Given the description of an element on the screen output the (x, y) to click on. 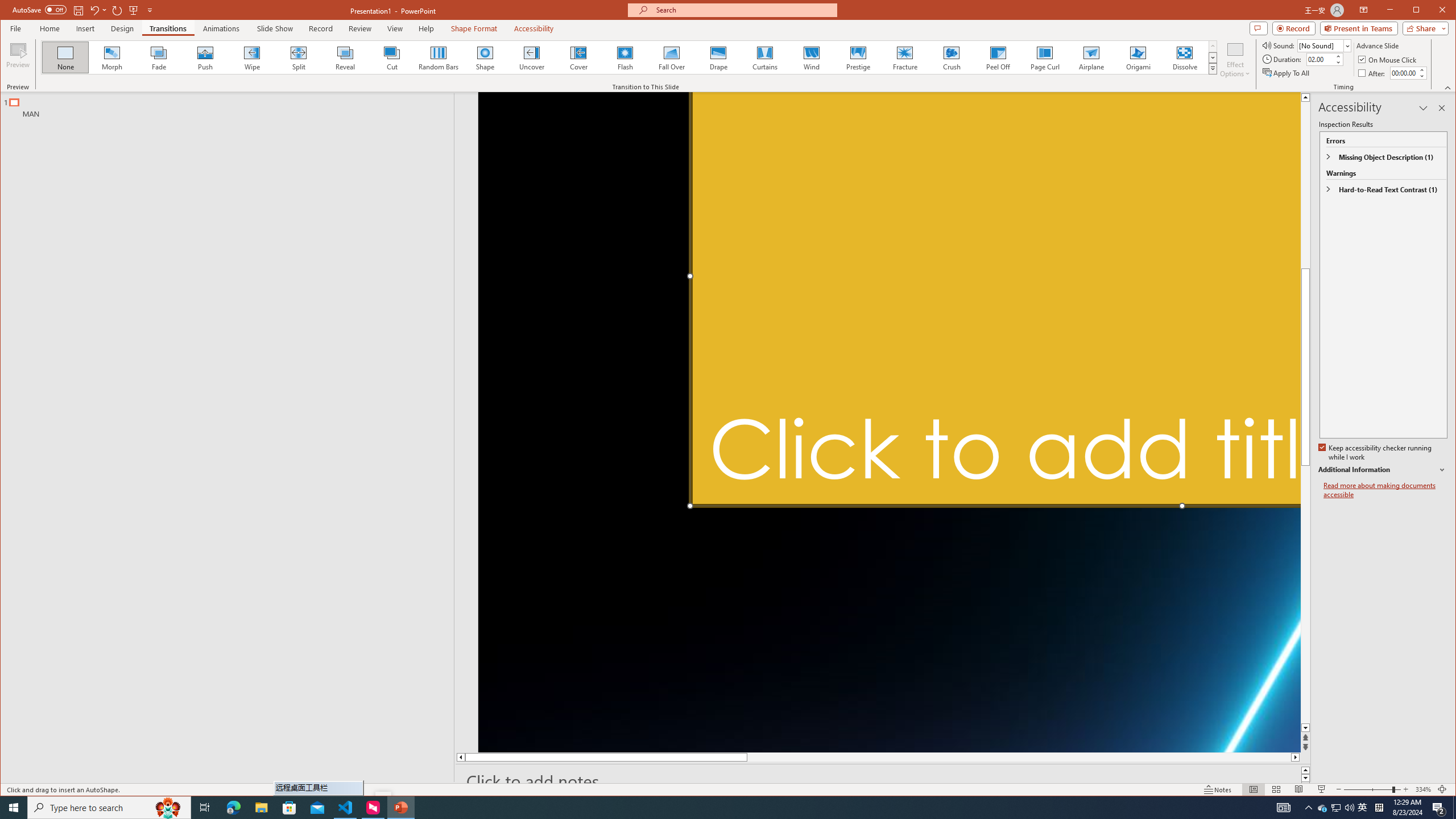
Dissolve (1184, 57)
Fade (158, 57)
Split (298, 57)
Wind (810, 57)
Duration (1320, 59)
Shape (484, 57)
On Mouse Click (1387, 59)
